Given the description of an element on the screen output the (x, y) to click on. 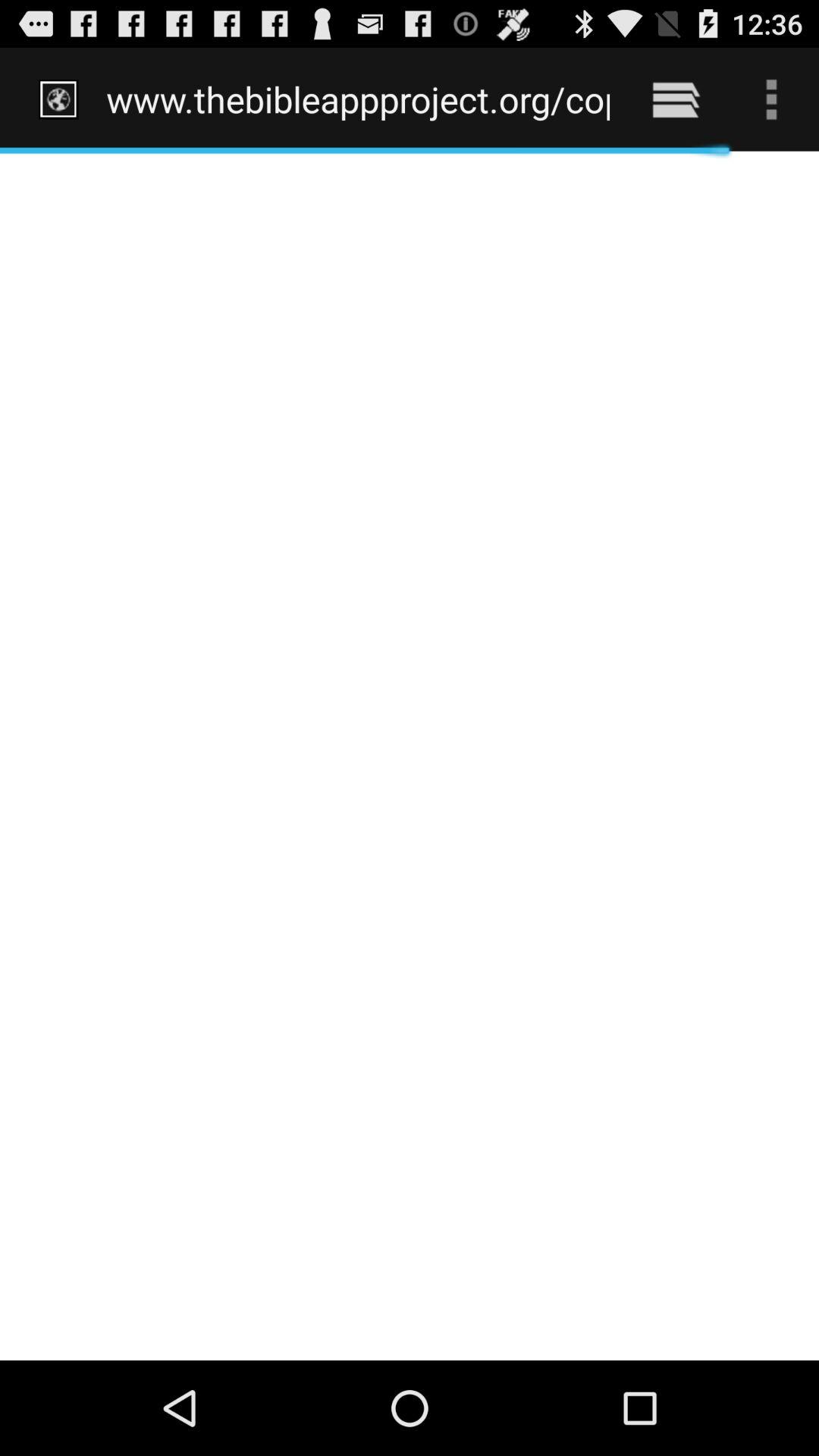
scroll to the www thebibleappproject org icon (357, 99)
